Given the description of an element on the screen output the (x, y) to click on. 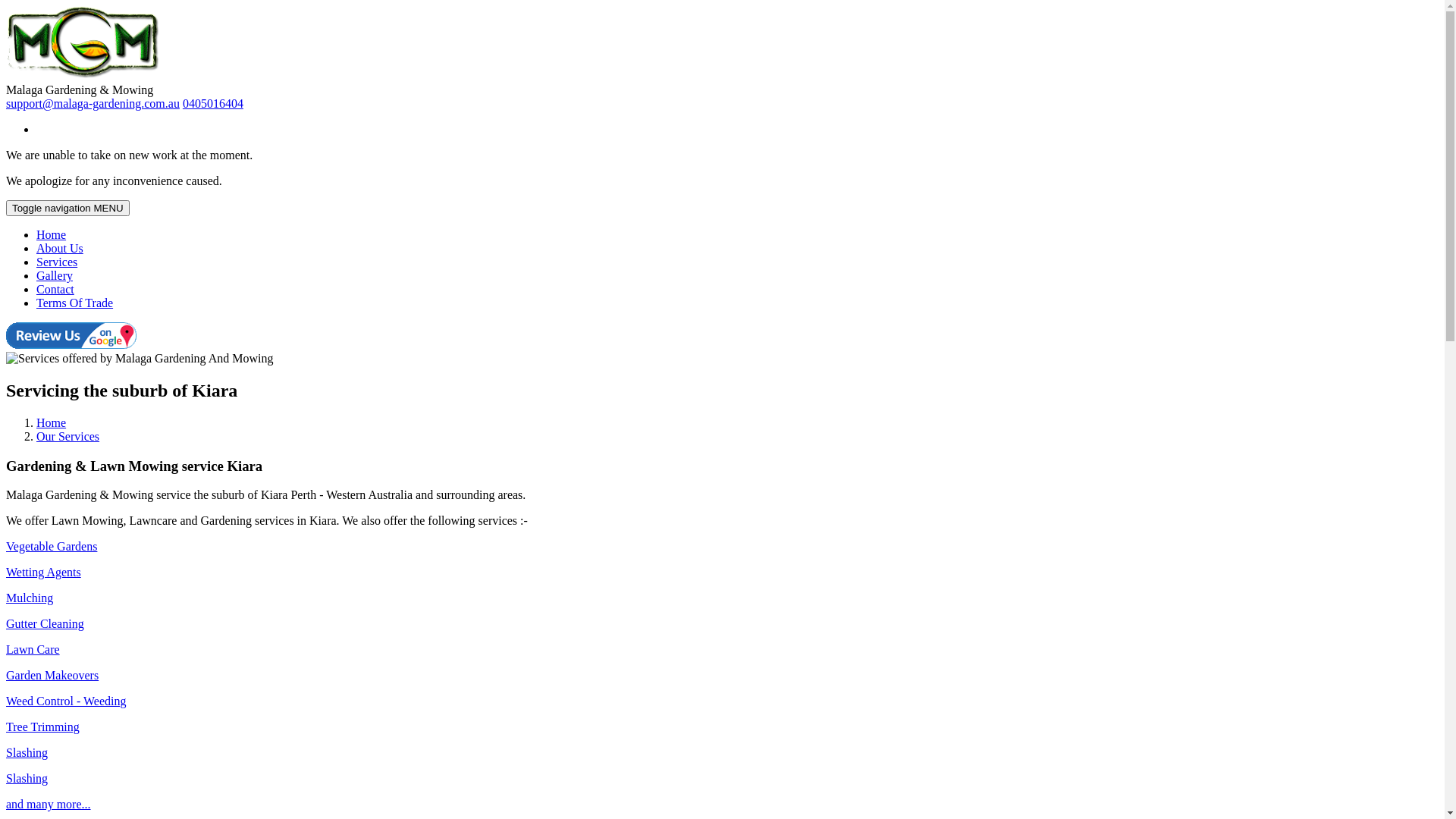
Weed Control - Weeding Element type: text (65, 700)
Wetting Agents Element type: text (43, 571)
Gutter Cleaning Element type: text (45, 623)
and many more... Element type: text (48, 803)
Lawn Care Element type: text (32, 649)
Toggle navigation MENU Element type: text (67, 208)
support@malaga-gardening.com.au Element type: text (92, 103)
Tree Trimming Element type: text (42, 726)
Slashing Element type: text (26, 777)
Home Element type: text (50, 234)
Terms Of Trade Element type: text (74, 302)
0405016404 Element type: text (212, 103)
About Us Element type: text (59, 247)
Home Element type: text (50, 422)
Mulching Element type: text (29, 597)
Services Element type: text (56, 261)
Garden Makeovers Element type: text (52, 674)
Slashing Element type: text (26, 752)
Our Services Element type: text (67, 435)
Contact Element type: text (55, 288)
Vegetable Gardens Element type: text (51, 545)
Gallery Element type: text (54, 275)
